Given the description of an element on the screen output the (x, y) to click on. 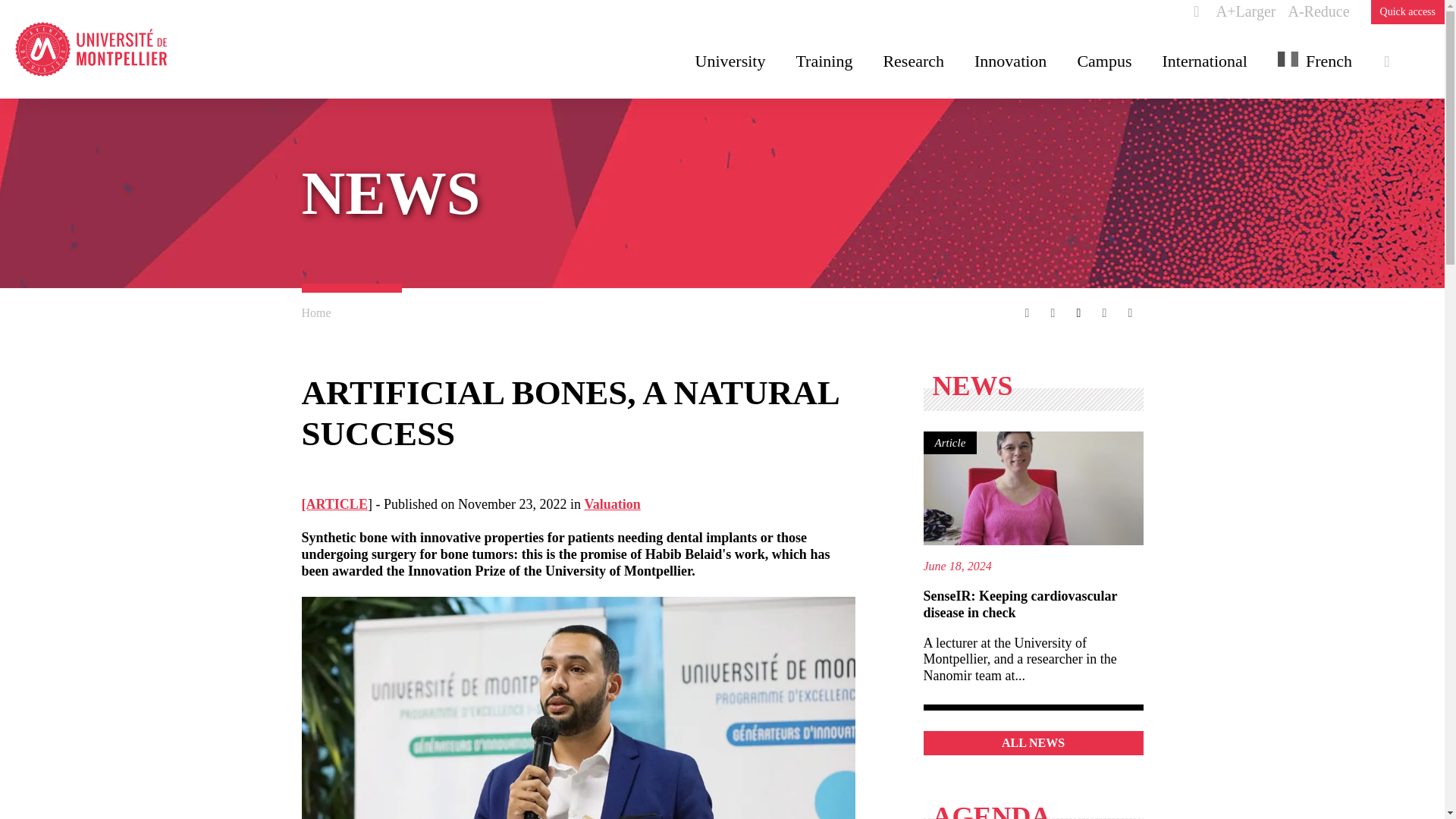
Share on Facebook (1027, 312)
Partager sur Twitter (1053, 312)
International (1203, 60)
Research (913, 60)
French (1314, 60)
Innovation (1010, 60)
Valuation (611, 503)
Home (316, 312)
ALL NEWS (1032, 742)
Share on Twitter (1053, 312)
